Given the description of an element on the screen output the (x, y) to click on. 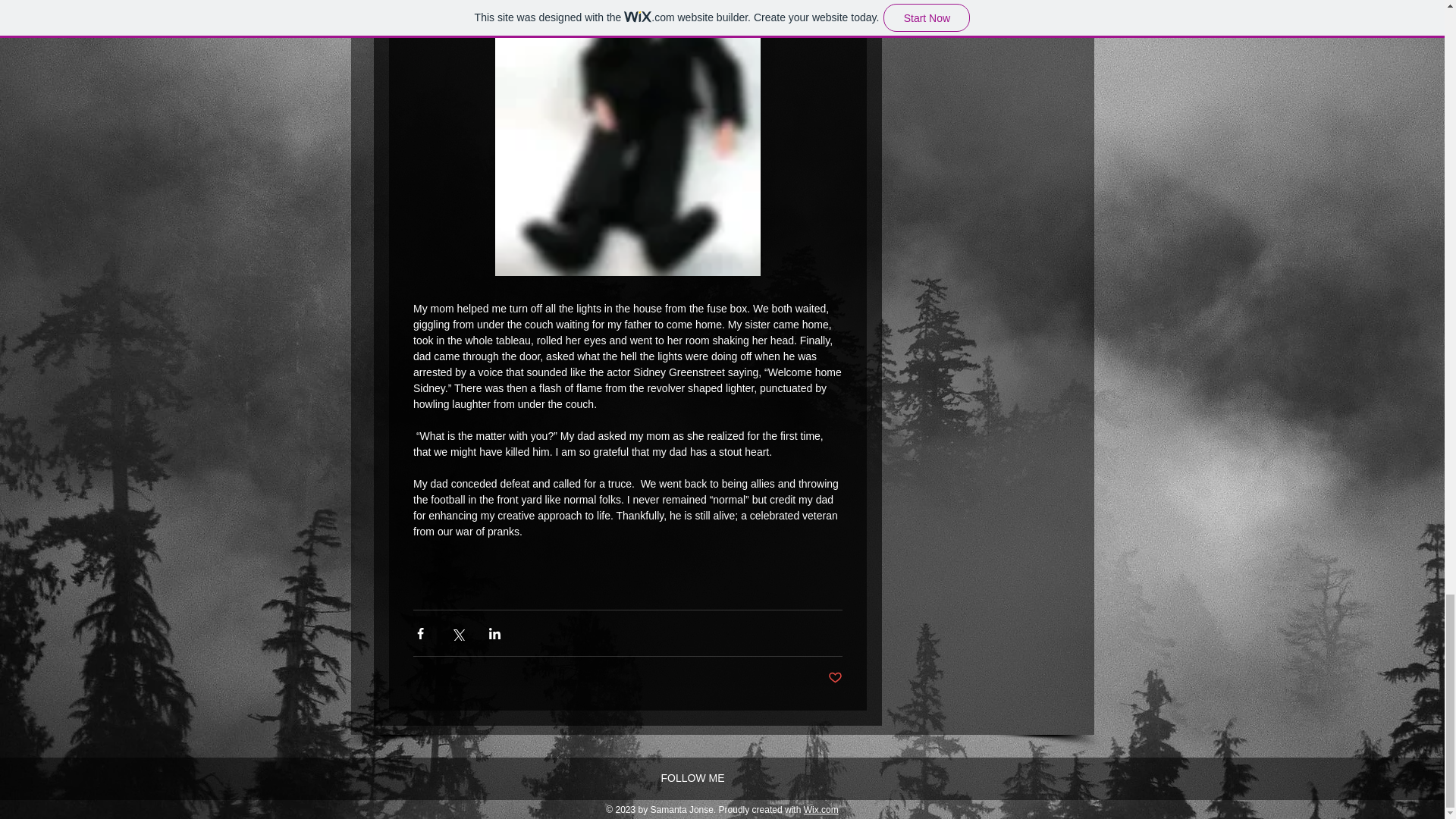
Post not marked as liked (835, 678)
Wix.com (820, 809)
